Given the description of an element on the screen output the (x, y) to click on. 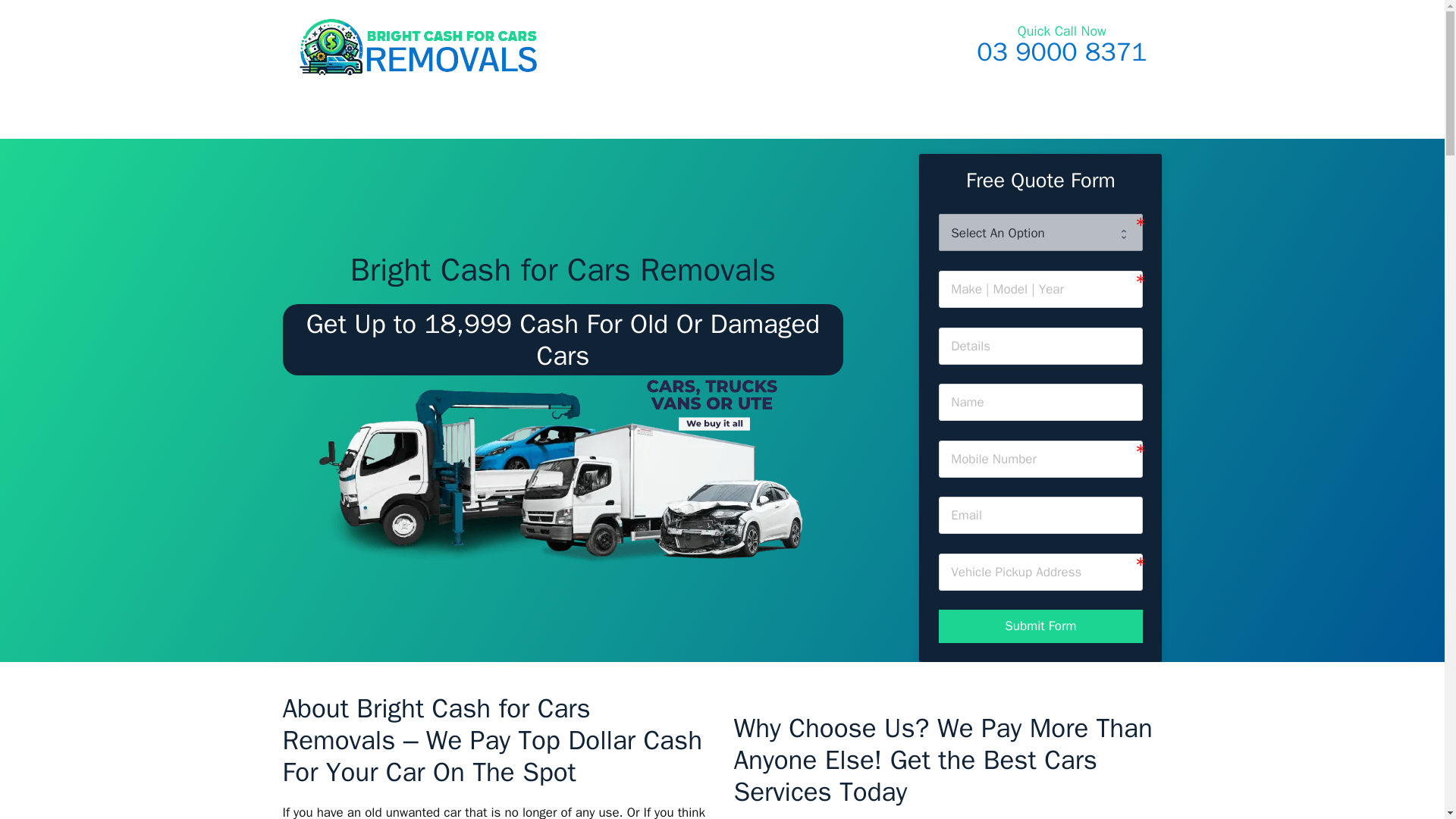
Submit Form (1040, 625)
03 9000 8371 (1061, 51)
